Given the description of an element on the screen output the (x, y) to click on. 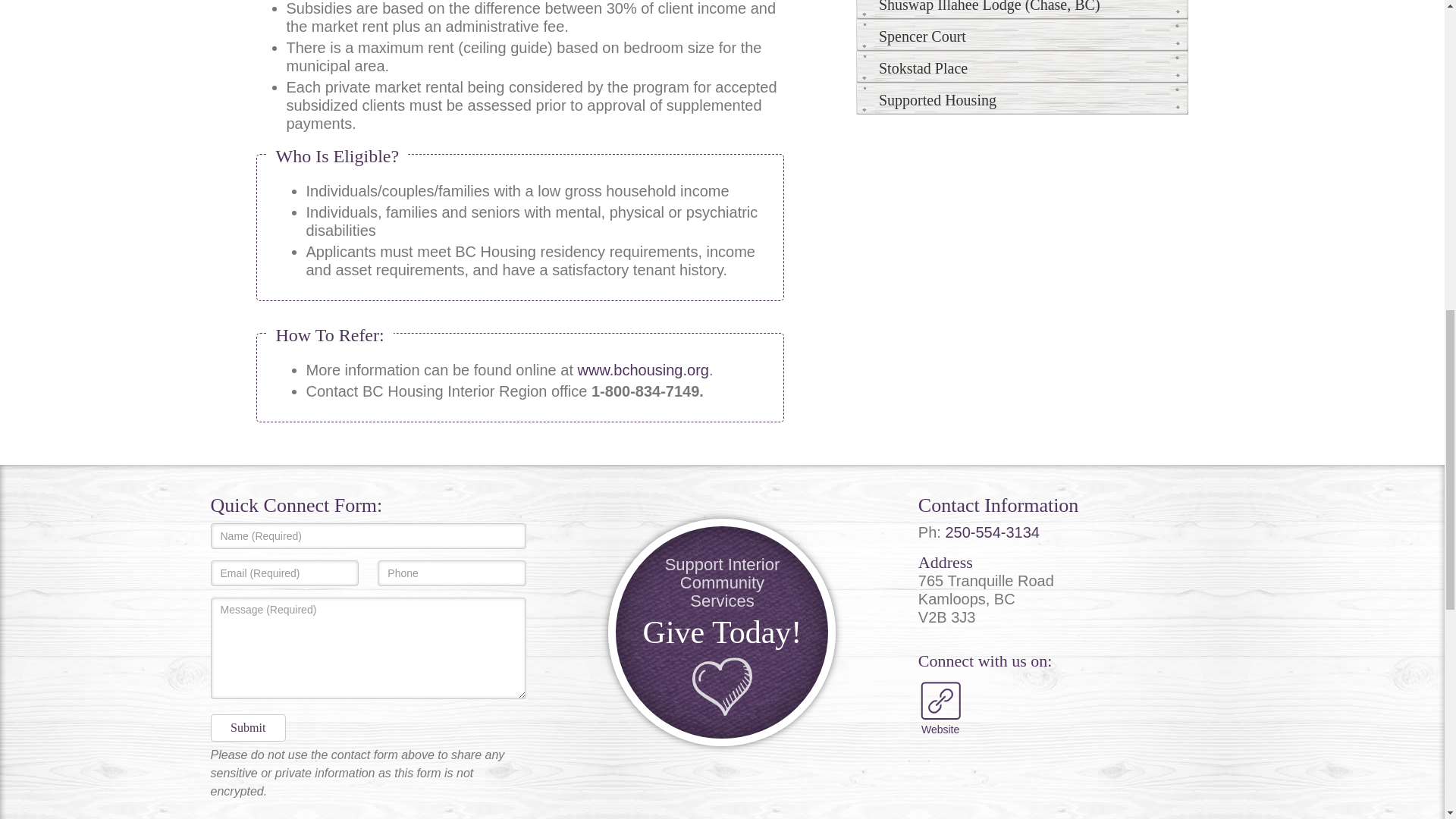
Submit (248, 728)
